Given the description of an element on the screen output the (x, y) to click on. 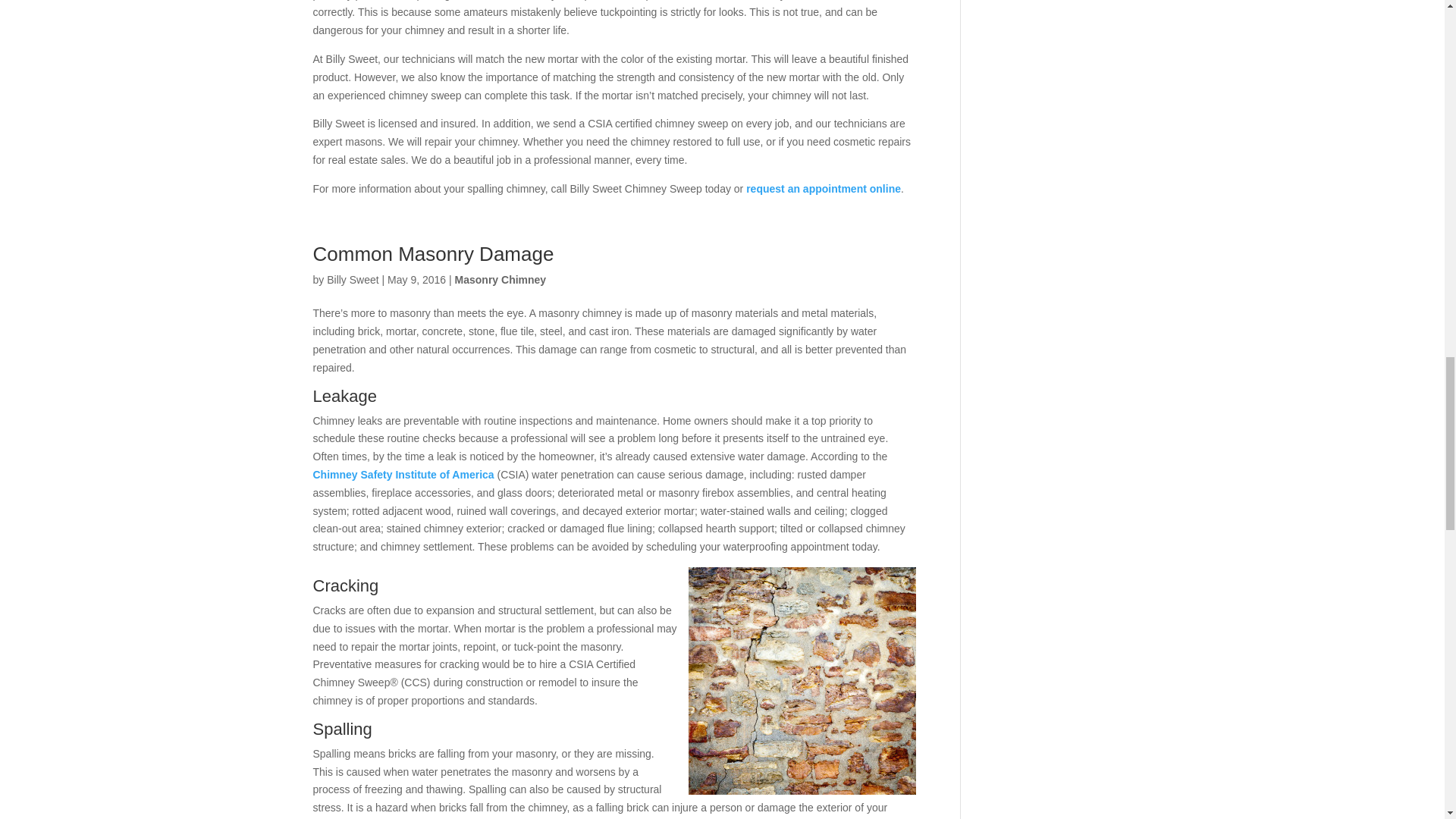
Posts by Billy Sweet (352, 279)
Common Masonry Damage - Boston MA - Billy Sweet Chimney (801, 680)
